Given the description of an element on the screen output the (x, y) to click on. 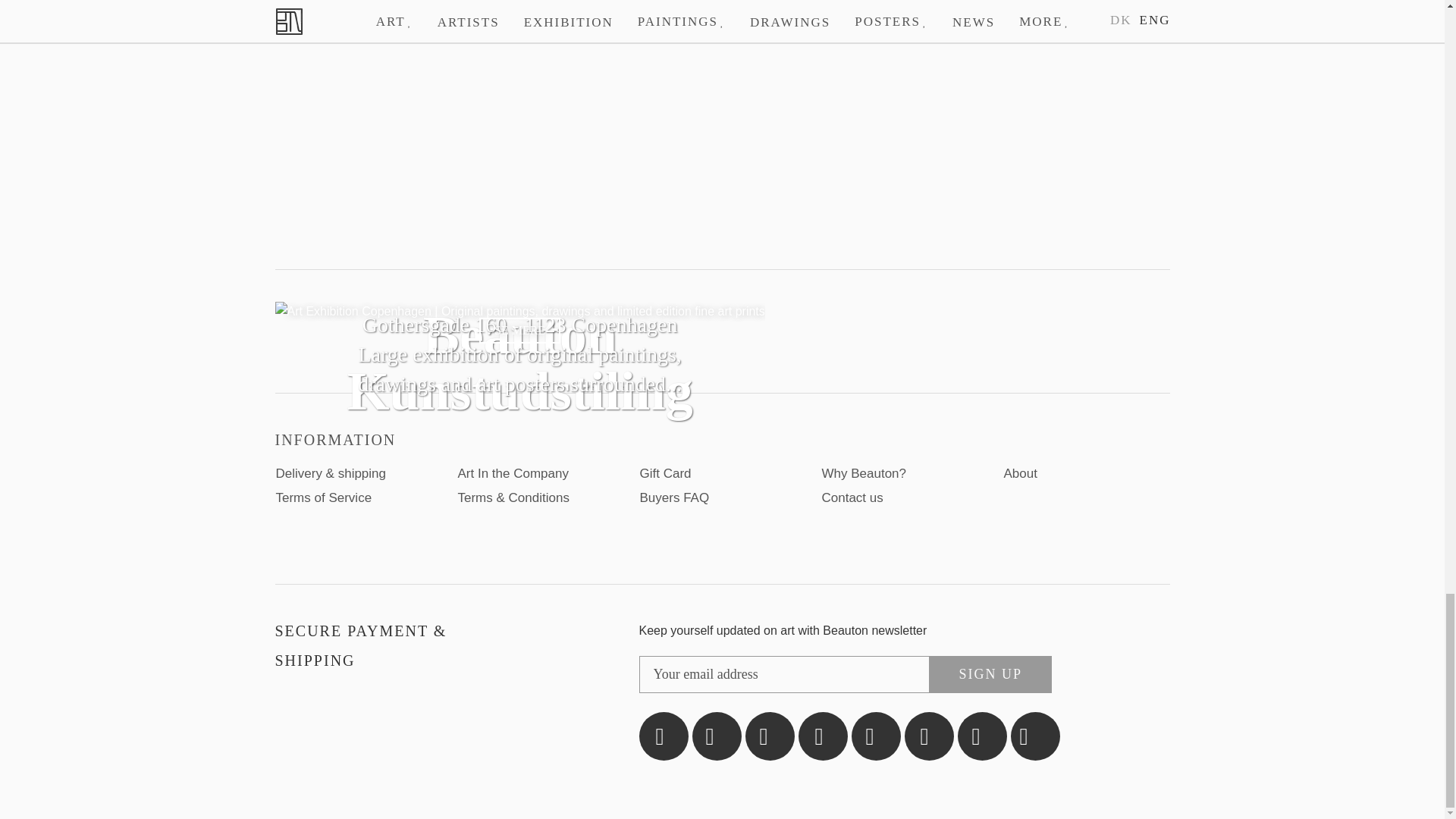
Sign Up (990, 674)
